Given the description of an element on the screen output the (x, y) to click on. 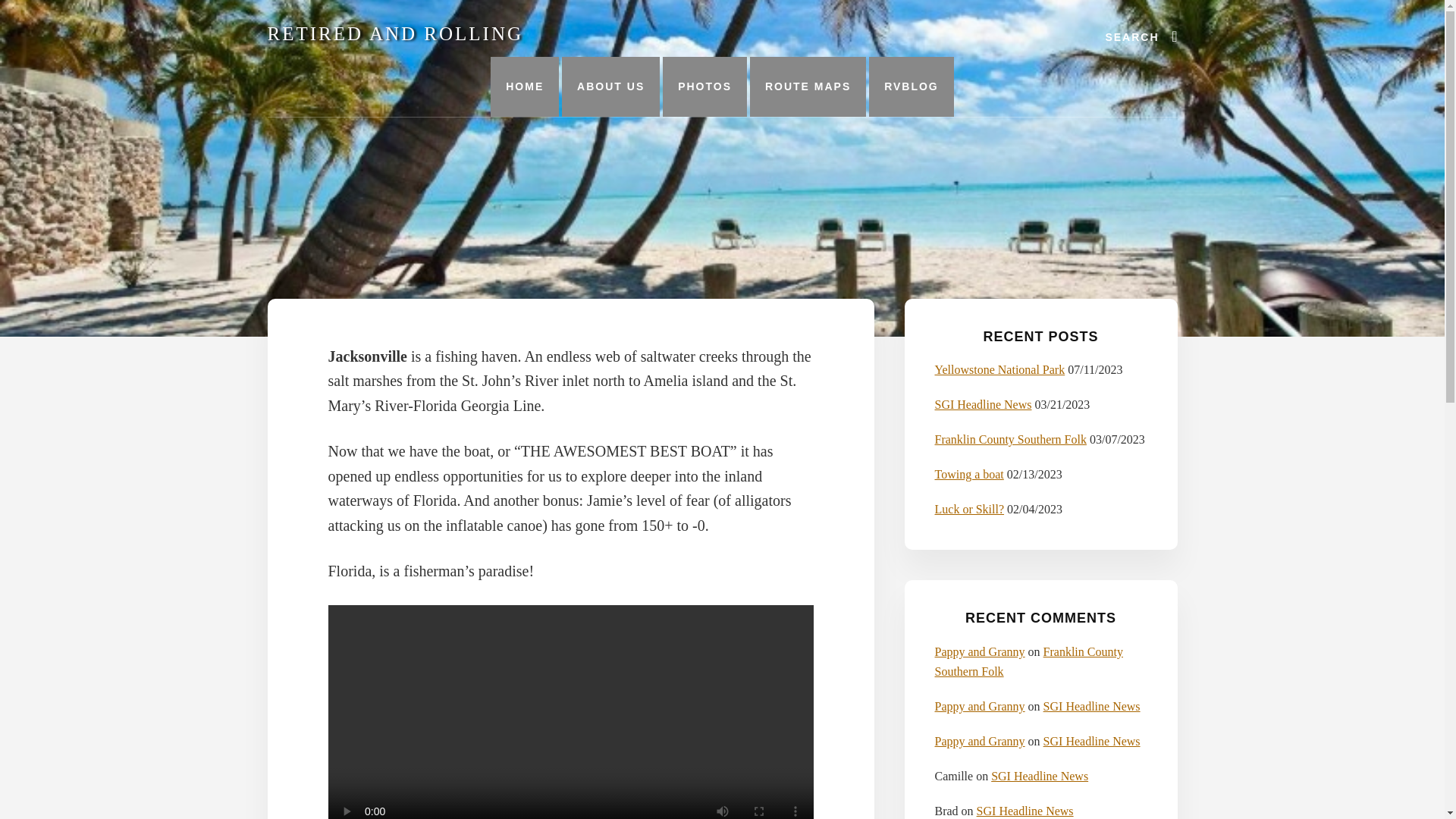
ABOUT US (610, 86)
RETIRED AND ROLLING (394, 33)
PHOTOS (704, 86)
HOME (524, 86)
